Given the description of an element on the screen output the (x, y) to click on. 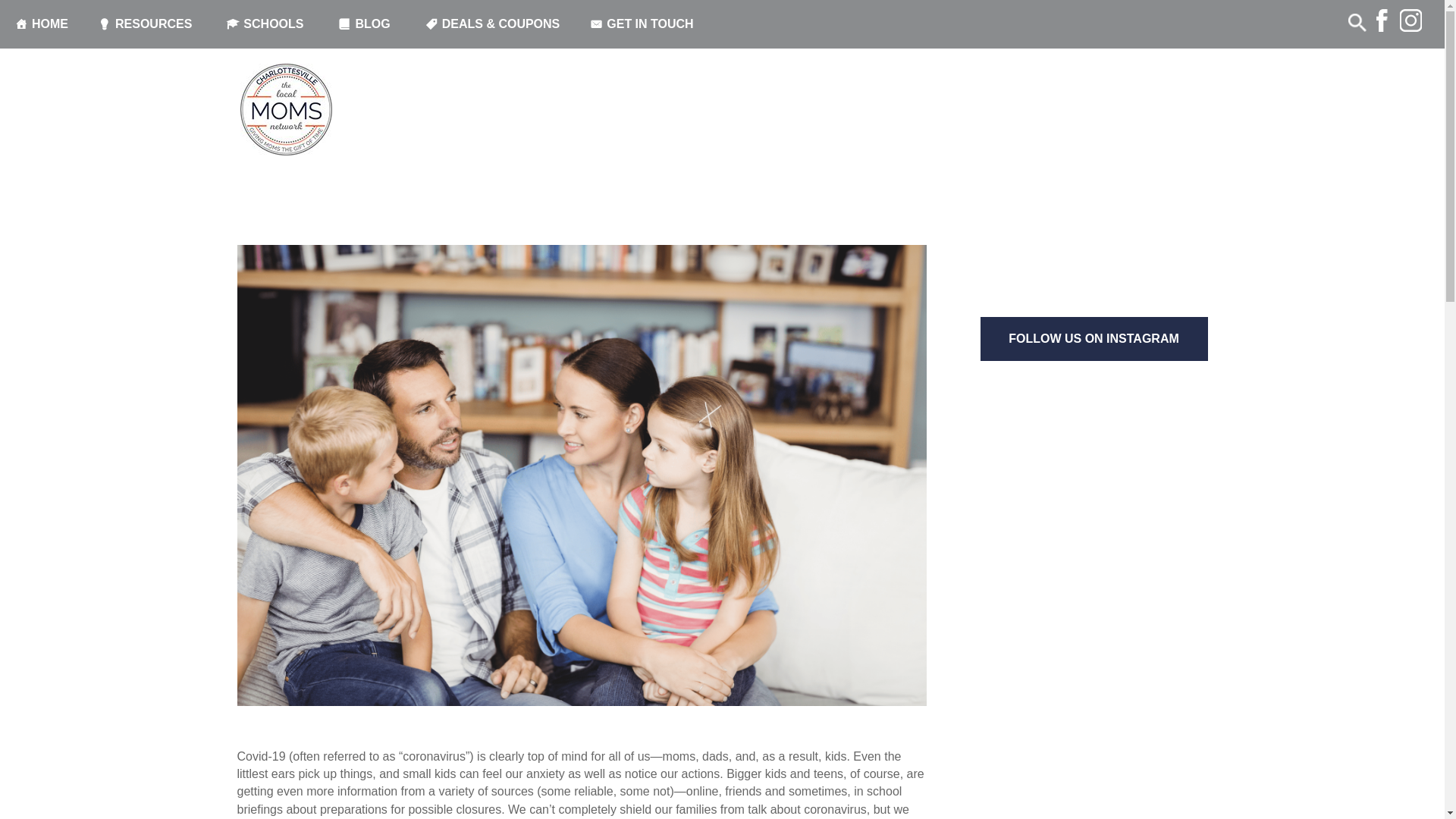
Search (34, 13)
Around Town (338, 148)
GET IN TOUCH (644, 24)
HOME (41, 24)
RESOURCES (146, 24)
3rd party ad content (1093, 199)
BLOG (366, 24)
SCHOOLS (267, 24)
